Given the description of an element on the screen output the (x, y) to click on. 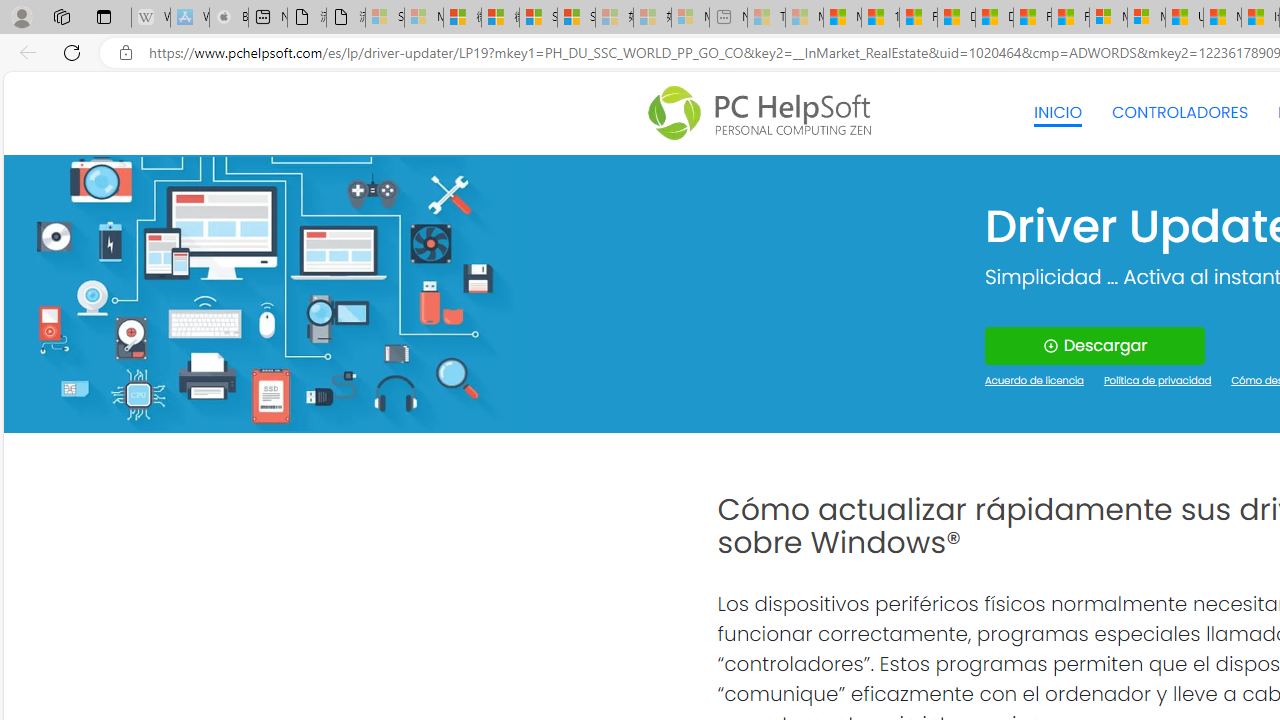
Microsoft Services Agreement - Sleeping (423, 17)
Sign in to your Microsoft account - Sleeping (385, 17)
Generic (263, 293)
Drinking tea every day is proven to delay biological aging (993, 17)
INICIO (1057, 112)
Download Icon (1049, 345)
Wikipedia - Sleeping (150, 17)
US Heat Deaths Soared To Record High Last Year (1184, 17)
Acuerdo de licencia (1034, 381)
